Given the description of an element on the screen output the (x, y) to click on. 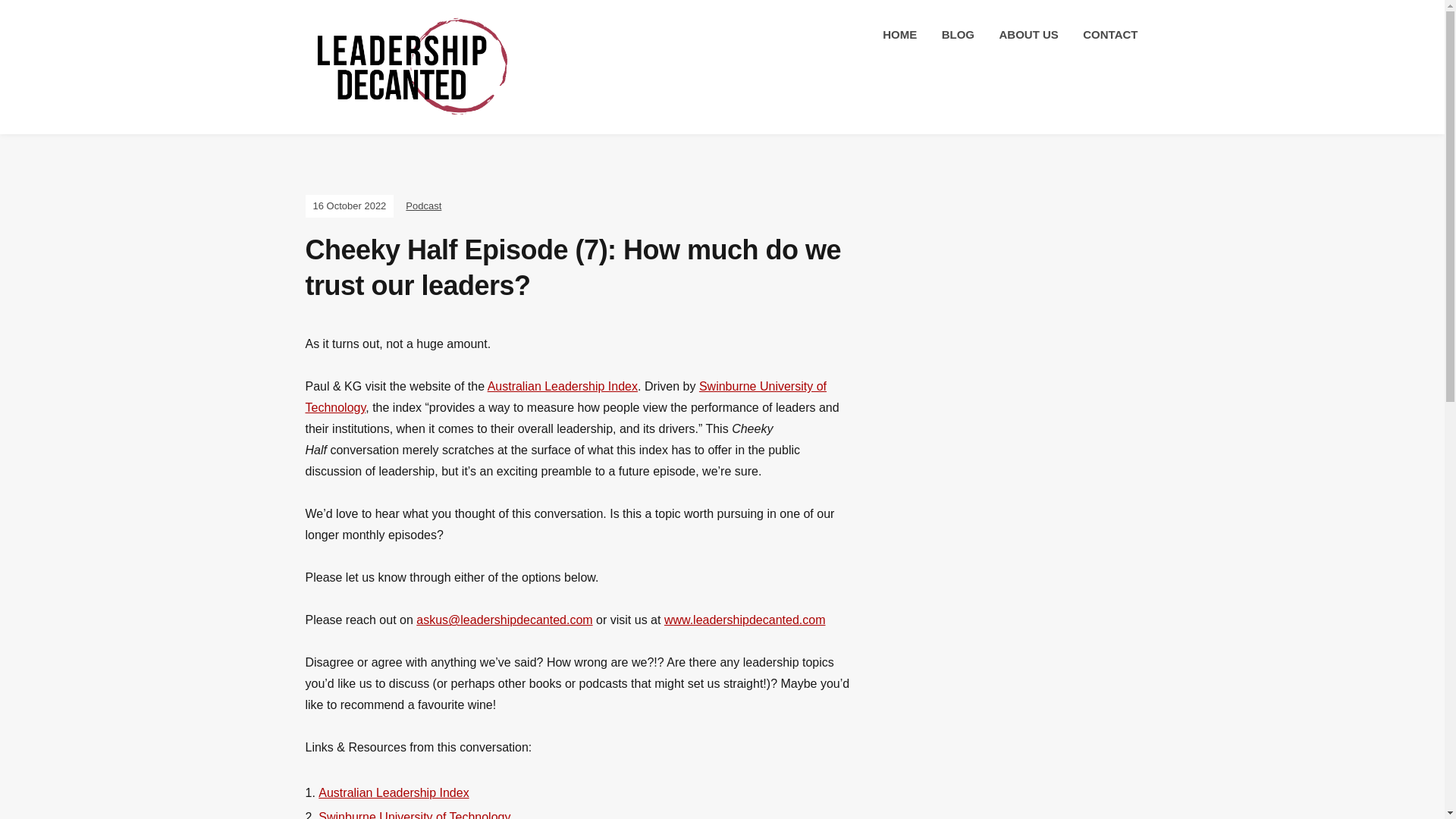
Podcast (423, 205)
Australian Leadership Index (562, 386)
Swinburne University of Technology (564, 397)
HOME (899, 34)
BLOG (957, 34)
www.leadershipdecanted.com (744, 619)
Swinburne University of Technology (414, 814)
ABOUT US (1028, 34)
CONTACT (1109, 34)
Australian Leadership Index (393, 792)
